Given the description of an element on the screen output the (x, y) to click on. 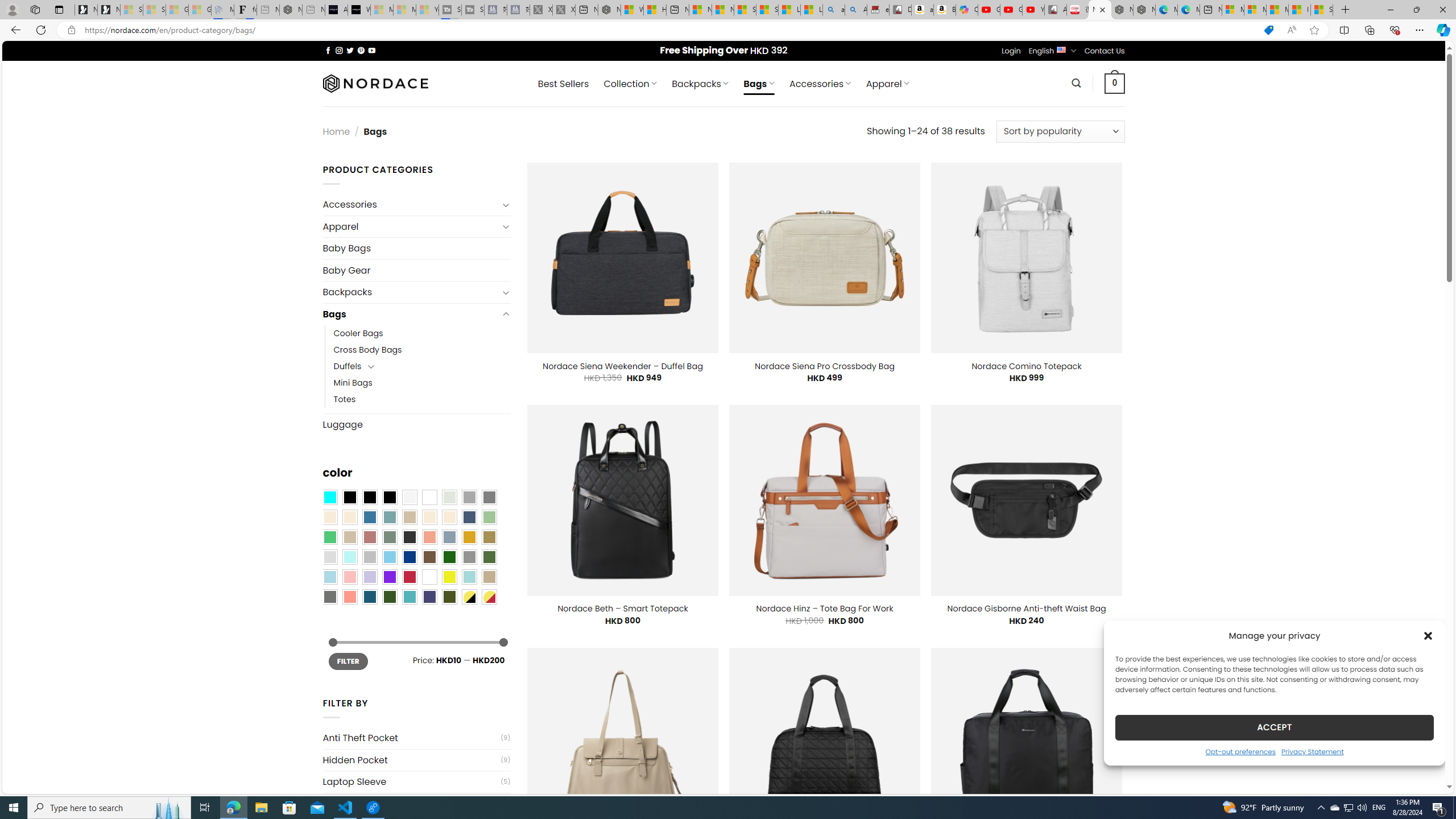
Totes (422, 398)
Accessories (410, 204)
Light Green (488, 517)
  0   (1115, 83)
Dark Gray (468, 497)
Mint (349, 557)
Luggage (416, 424)
Laptop Sleeve(5) (416, 781)
Clear (429, 497)
Peach Pink (349, 596)
